Given the description of an element on the screen output the (x, y) to click on. 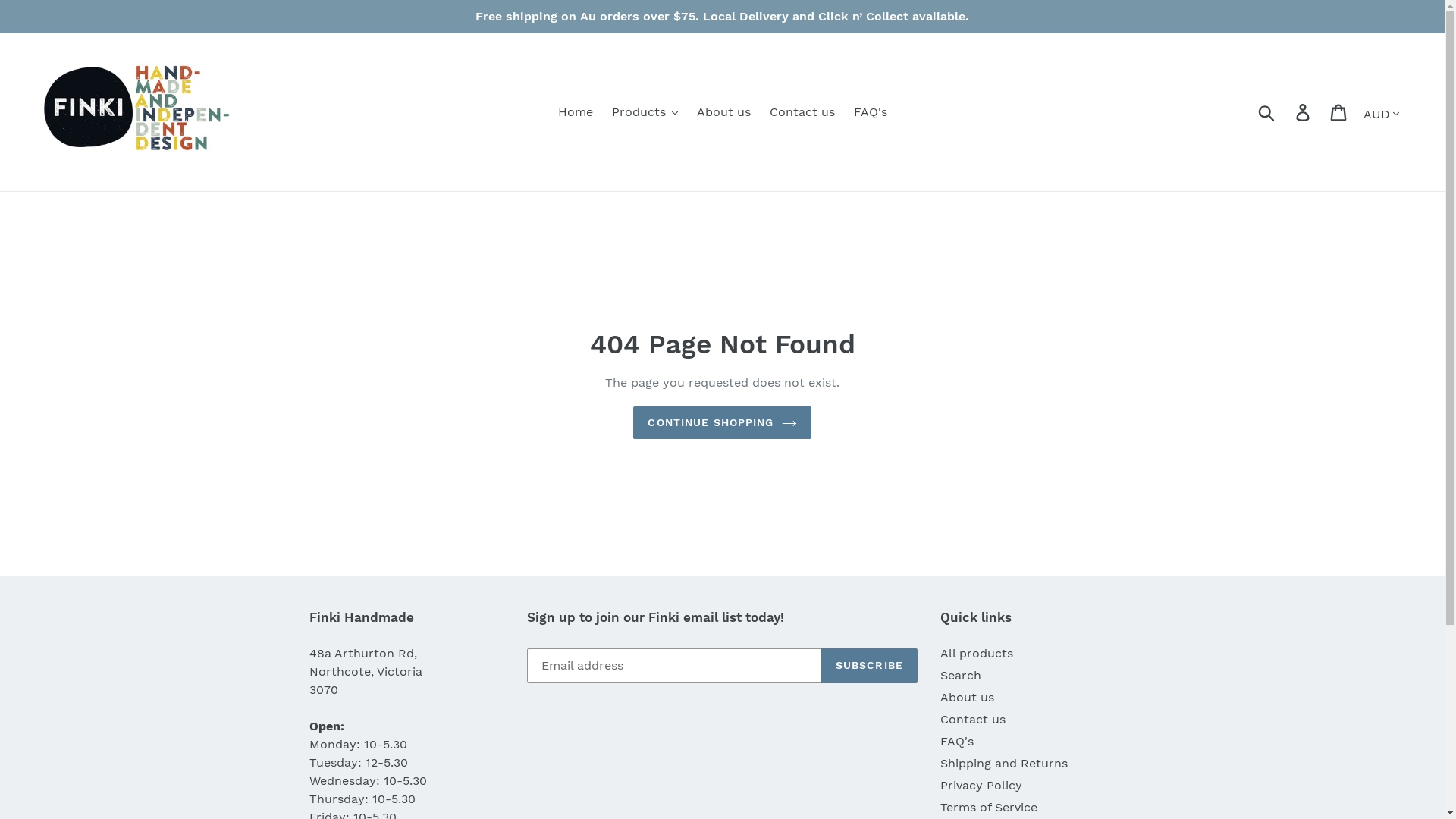
Shipping and Returns Element type: text (1003, 763)
Contact us Element type: text (972, 719)
SUBSCRIBE Element type: text (869, 665)
All products Element type: text (976, 653)
FAQ's Element type: text (870, 111)
FAQ's Element type: text (956, 741)
Search Element type: text (960, 675)
Contact us Element type: text (801, 111)
About us Element type: text (967, 697)
About us Element type: text (722, 111)
Home Element type: text (575, 111)
Privacy Policy Element type: text (981, 785)
Cart Element type: text (1339, 112)
Submit Element type: text (1267, 111)
Terms of Service Element type: text (988, 807)
CONTINUE SHOPPING Element type: text (721, 422)
Log in Element type: text (1303, 112)
